Given the description of an element on the screen output the (x, y) to click on. 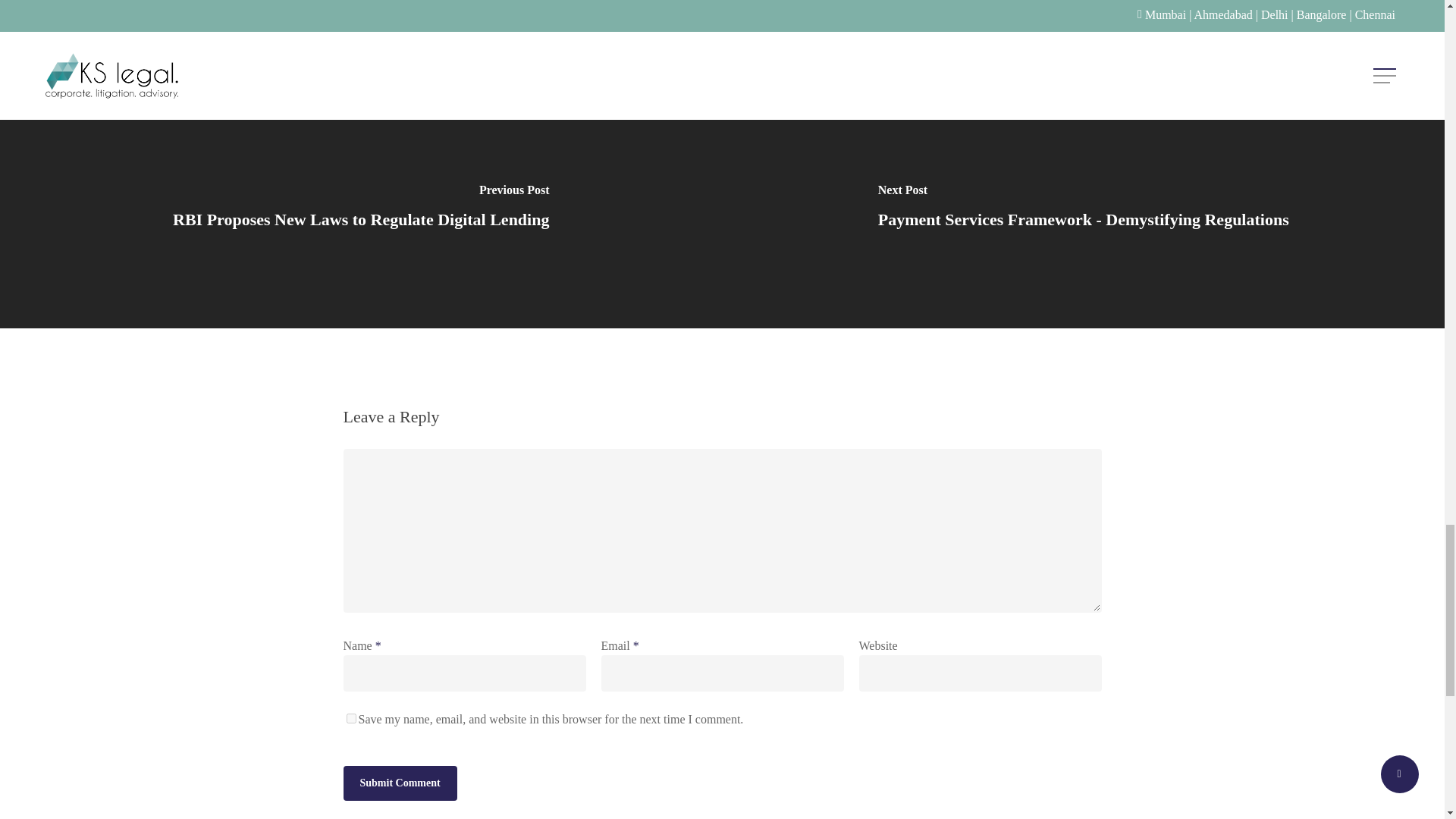
Submit Comment (399, 811)
Submit Comment (399, 811)
KS Legal (369, 20)
yes (350, 756)
